Given the description of an element on the screen output the (x, y) to click on. 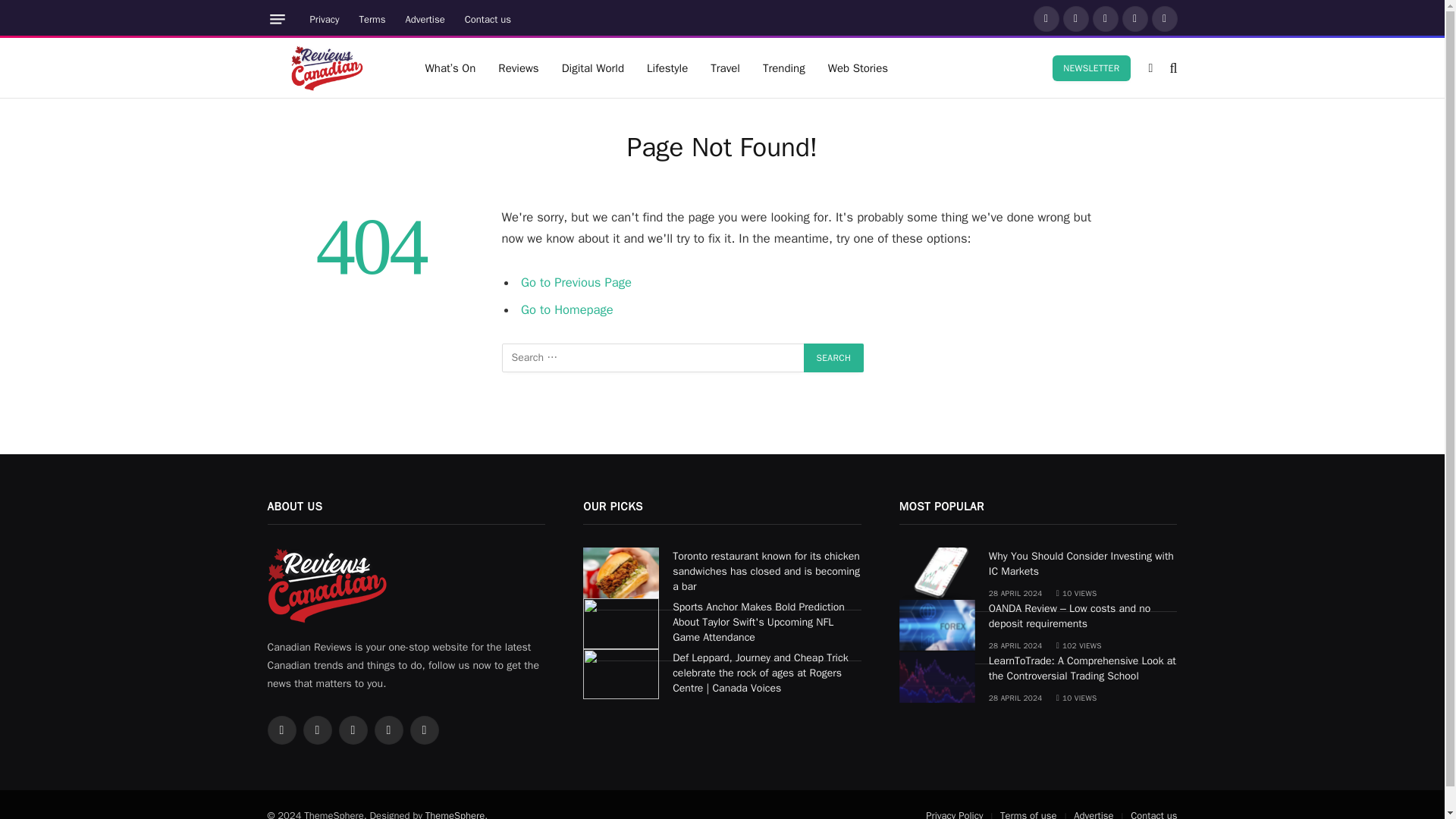
Canadian Reviews (326, 67)
Reviews (518, 67)
Instagram (1105, 18)
Advertise (425, 19)
Facebook (1046, 18)
Pinterest (1135, 18)
Vimeo (1164, 18)
Switch to Dark Design - easier on eyes. (1150, 68)
Contact us (487, 19)
Search (833, 357)
Lifestyle (666, 67)
Search (833, 357)
Terms (371, 19)
Privacy (324, 19)
Digital World (592, 67)
